Given the description of an element on the screen output the (x, y) to click on. 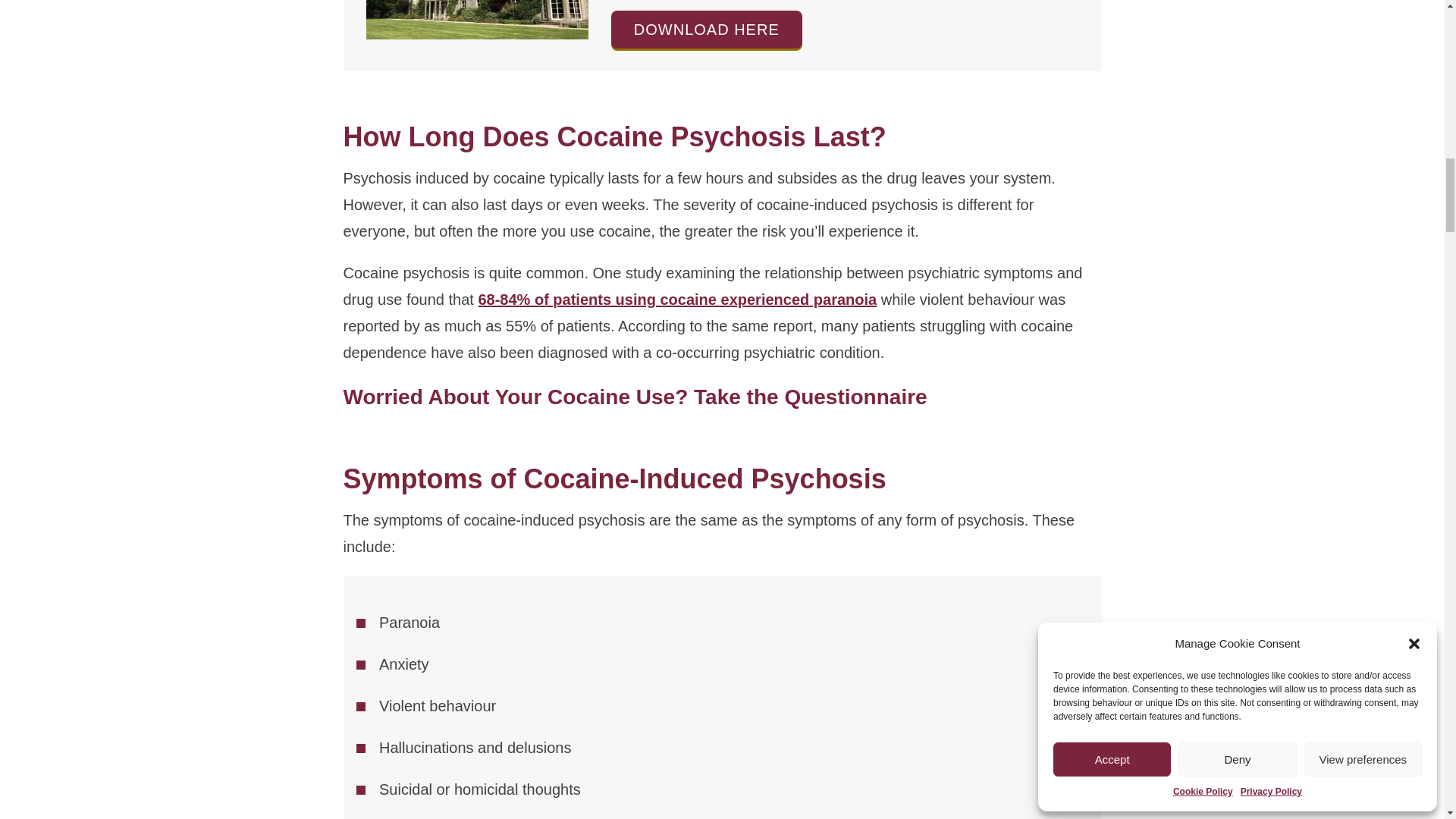
Download Castle-Craig Brochure-Jun-24 (706, 29)
